Given the description of an element on the screen output the (x, y) to click on. 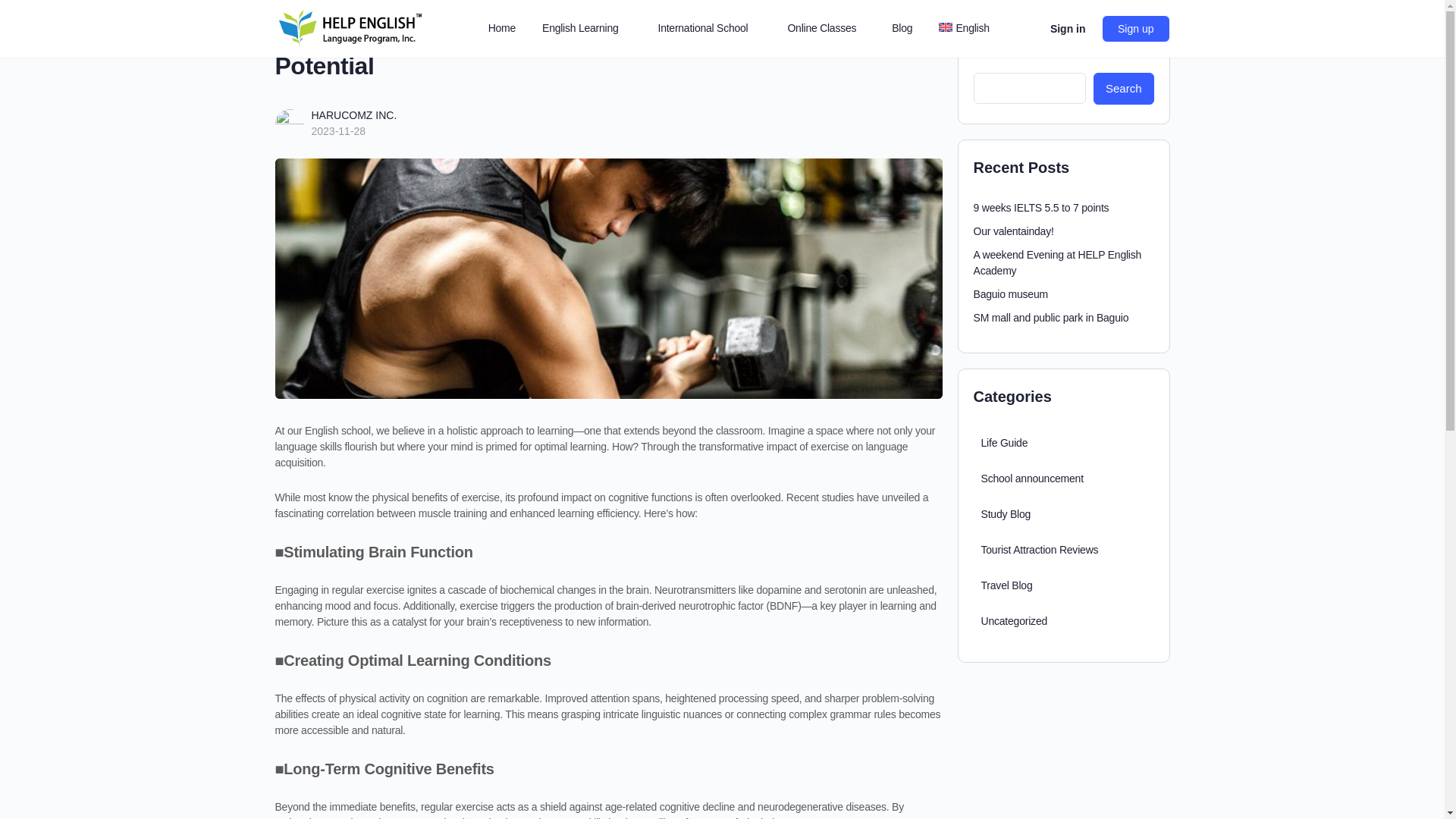
Sign in (1067, 28)
International School (709, 28)
English (970, 28)
HARUCOMZ INC. (353, 114)
English (970, 28)
Online Classes (827, 28)
English Learning (586, 28)
Sign up (1135, 28)
